Given the description of an element on the screen output the (x, y) to click on. 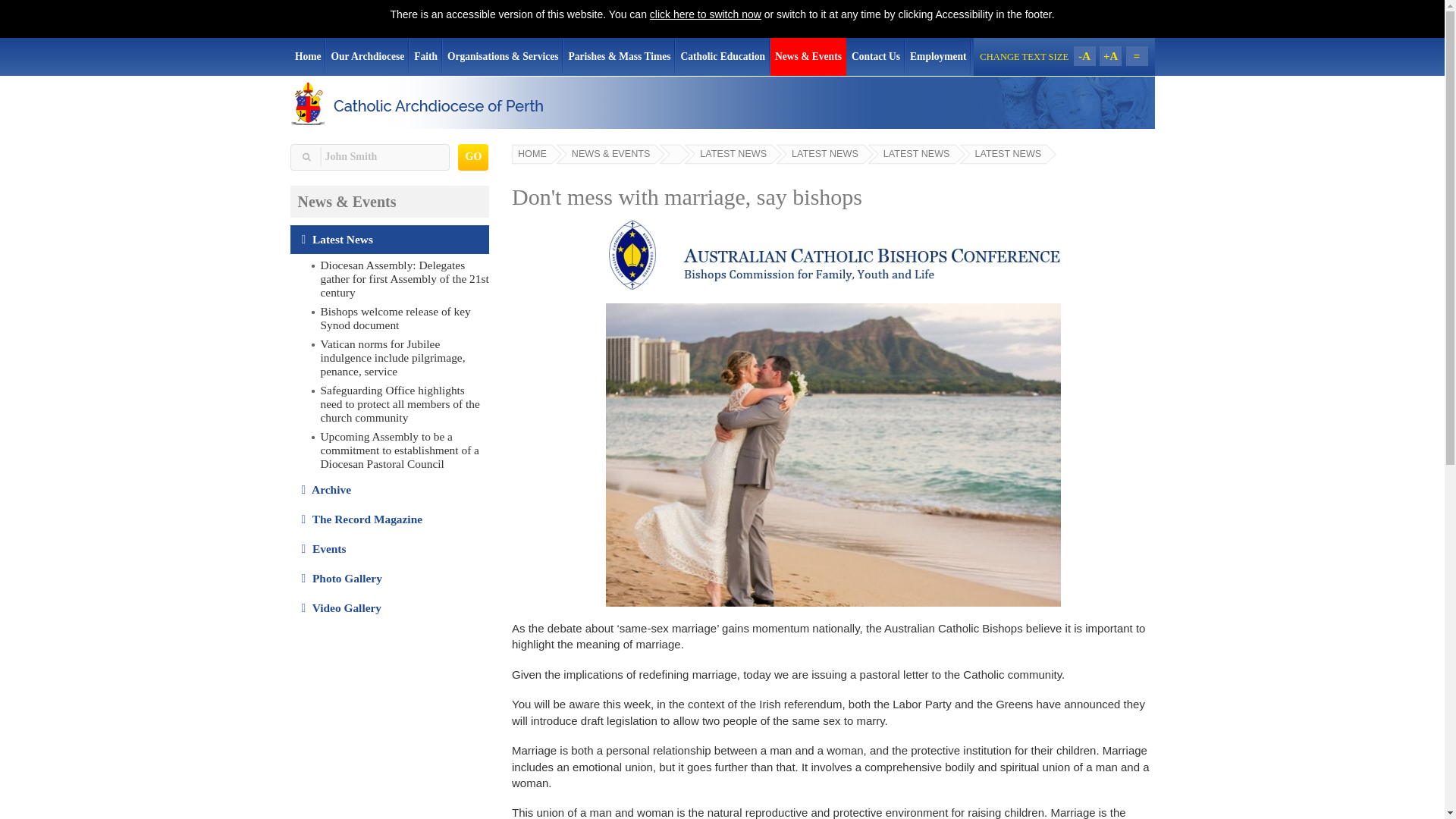
Accessibility (705, 14)
Catholic Education (722, 56)
 Latest News (389, 239)
GO (472, 157)
John Smith (368, 157)
Our Archdiocese (367, 56)
-A (1085, 55)
News (389, 239)
